Given the description of an element on the screen output the (x, y) to click on. 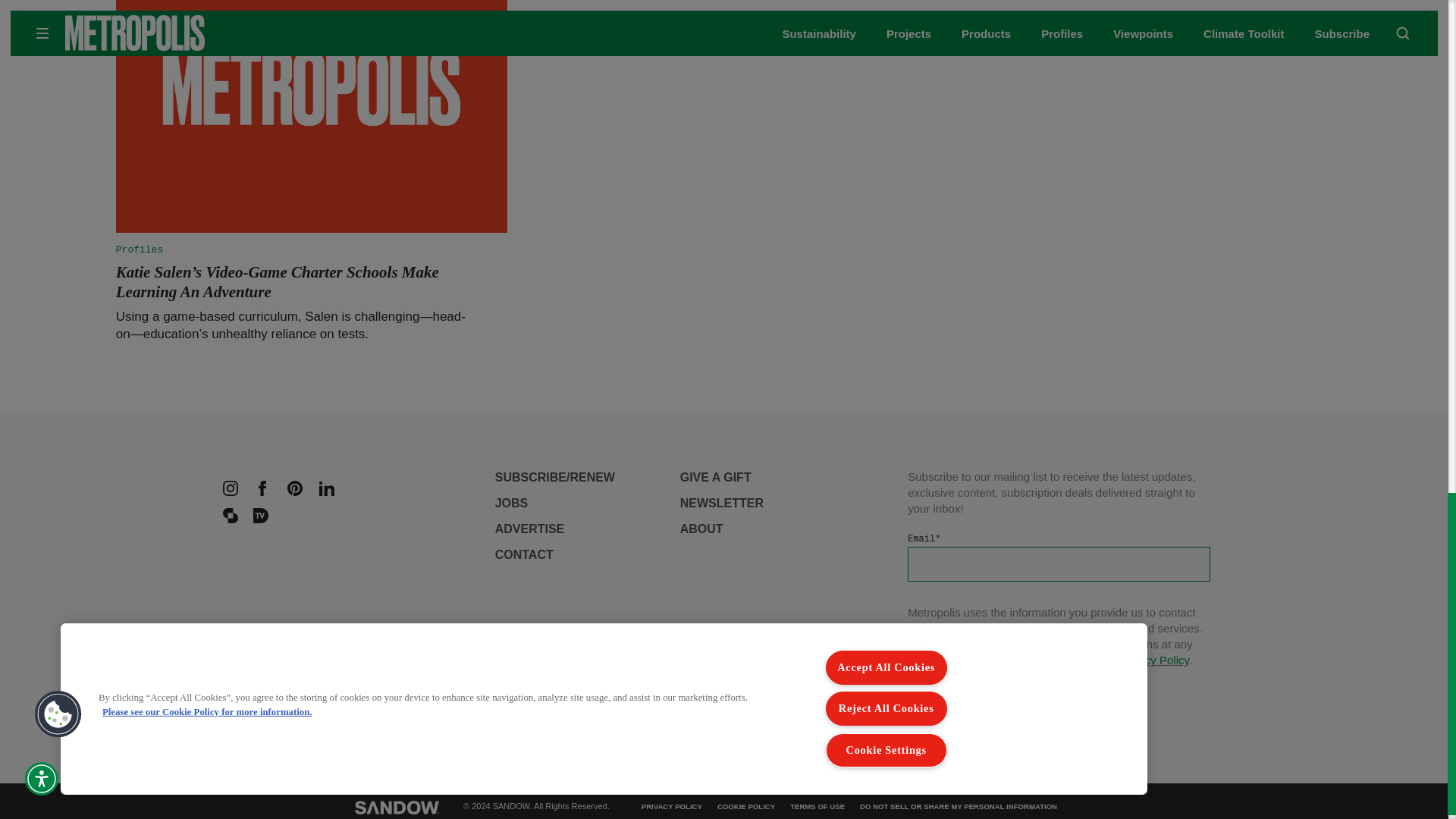
Submit (954, 696)
